Given the description of an element on the screen output the (x, y) to click on. 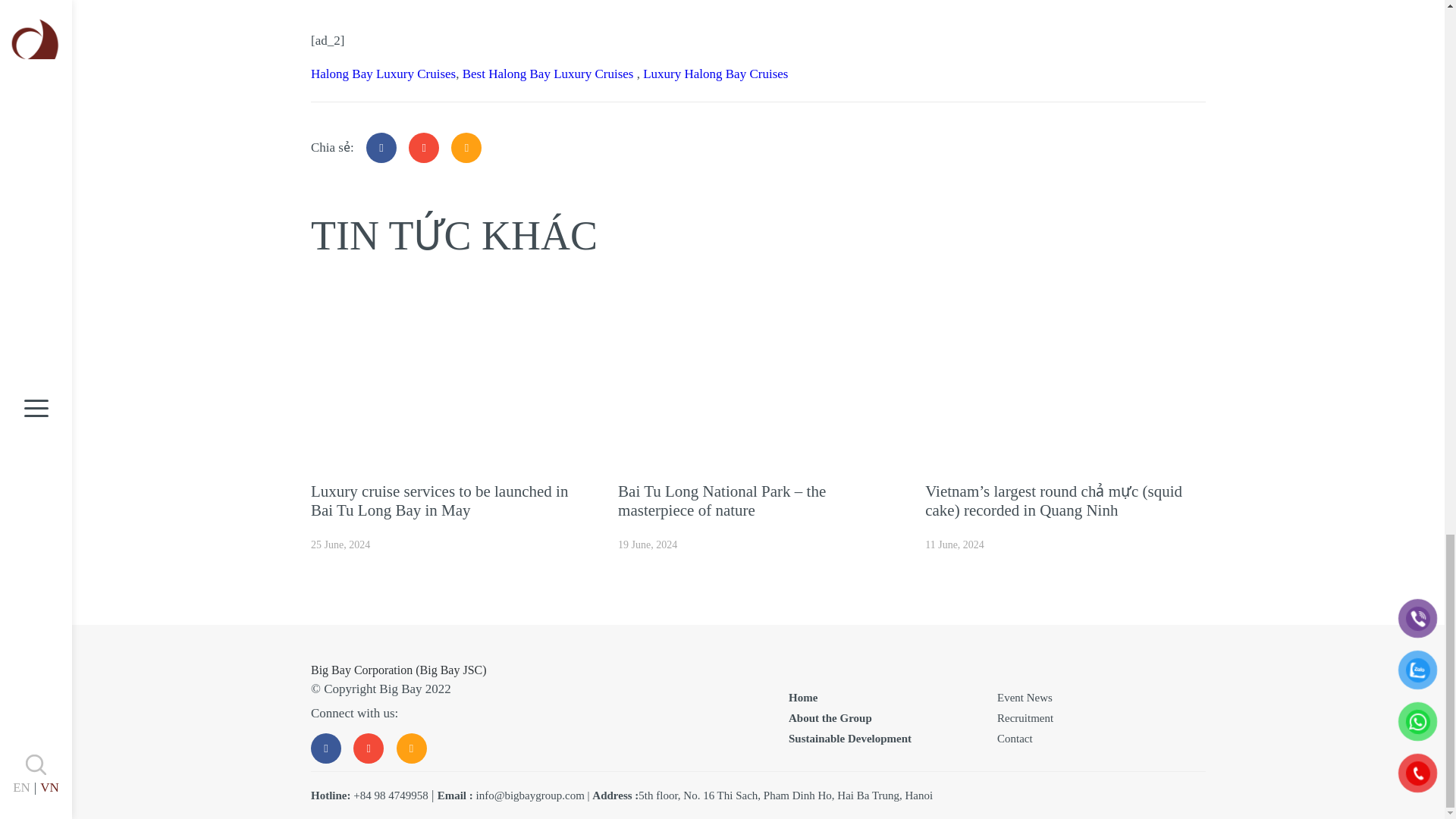
Event News (1024, 697)
Luxury Halong Bay Cruises (715, 73)
Home (802, 697)
Halong Bay Luxury Cruises (383, 73)
Contact (1014, 738)
Best Halong Bay Luxury Cruises (550, 73)
Recruitment (1024, 717)
About the Group (830, 717)
Sustainable Development (850, 738)
